Given the description of an element on the screen output the (x, y) to click on. 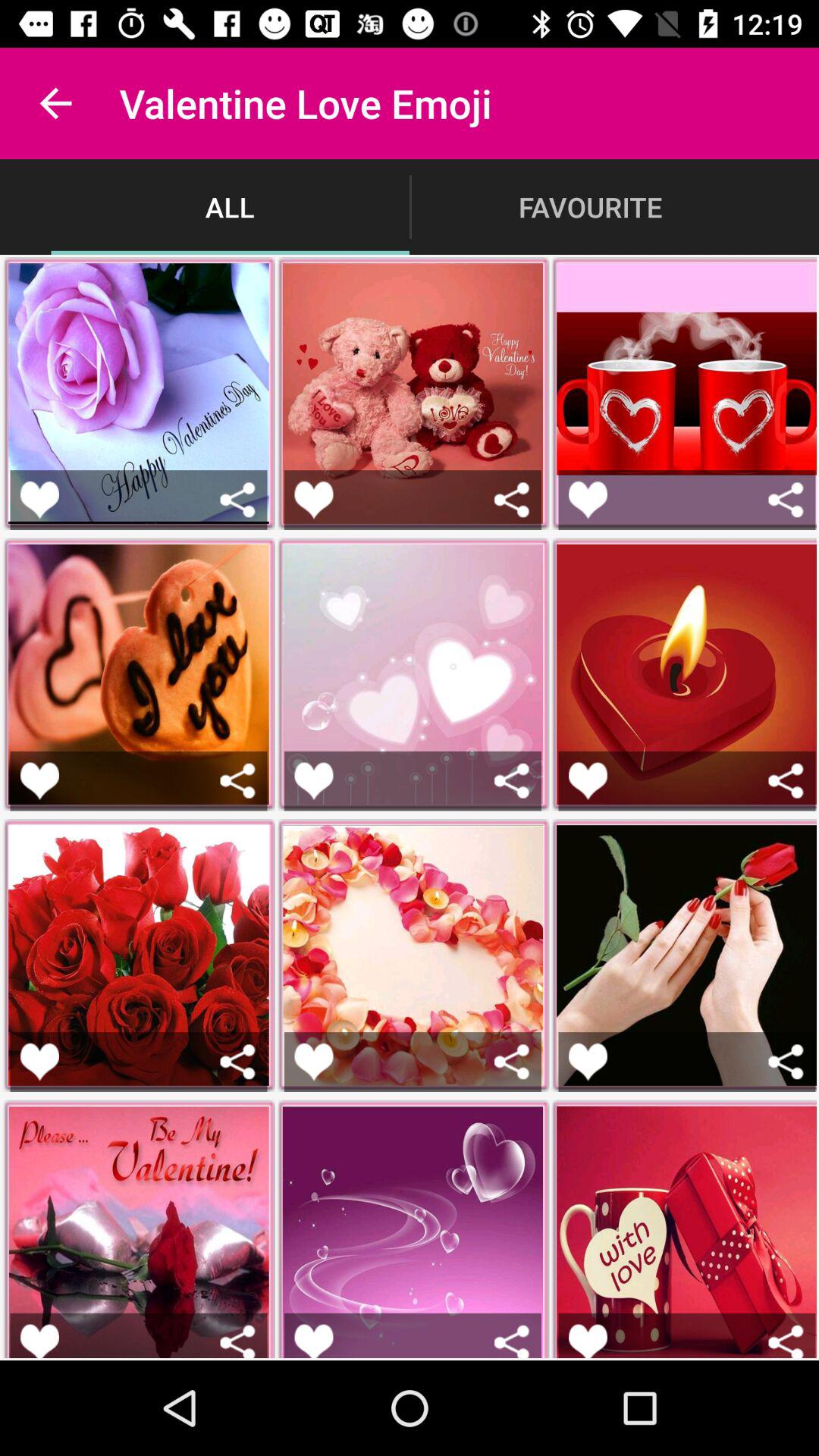
share the picture (511, 1340)
